Given the description of an element on the screen output the (x, y) to click on. 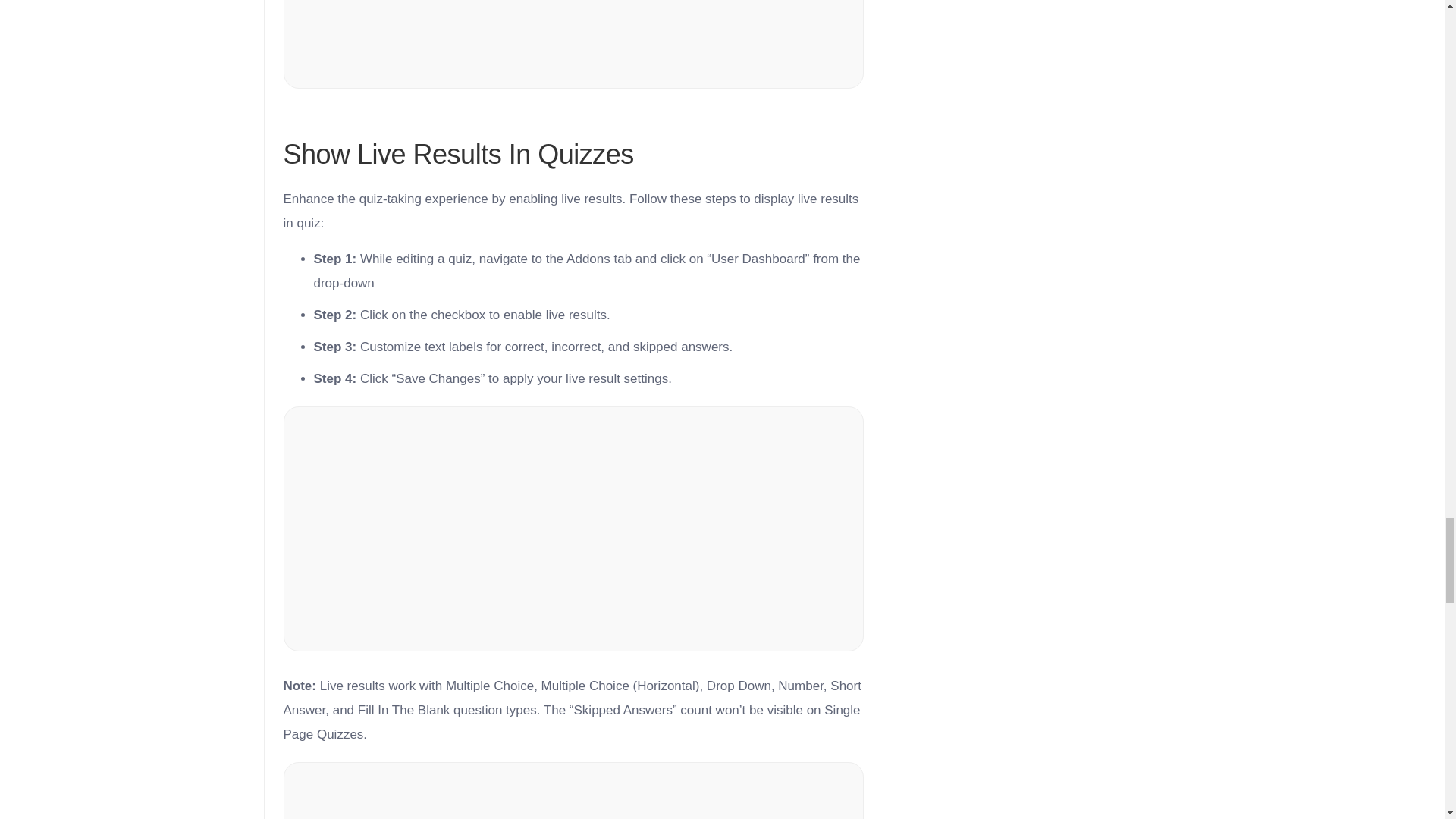
User Dashboard (573, 44)
User Dashboard (573, 790)
